Given the description of an element on the screen output the (x, y) to click on. 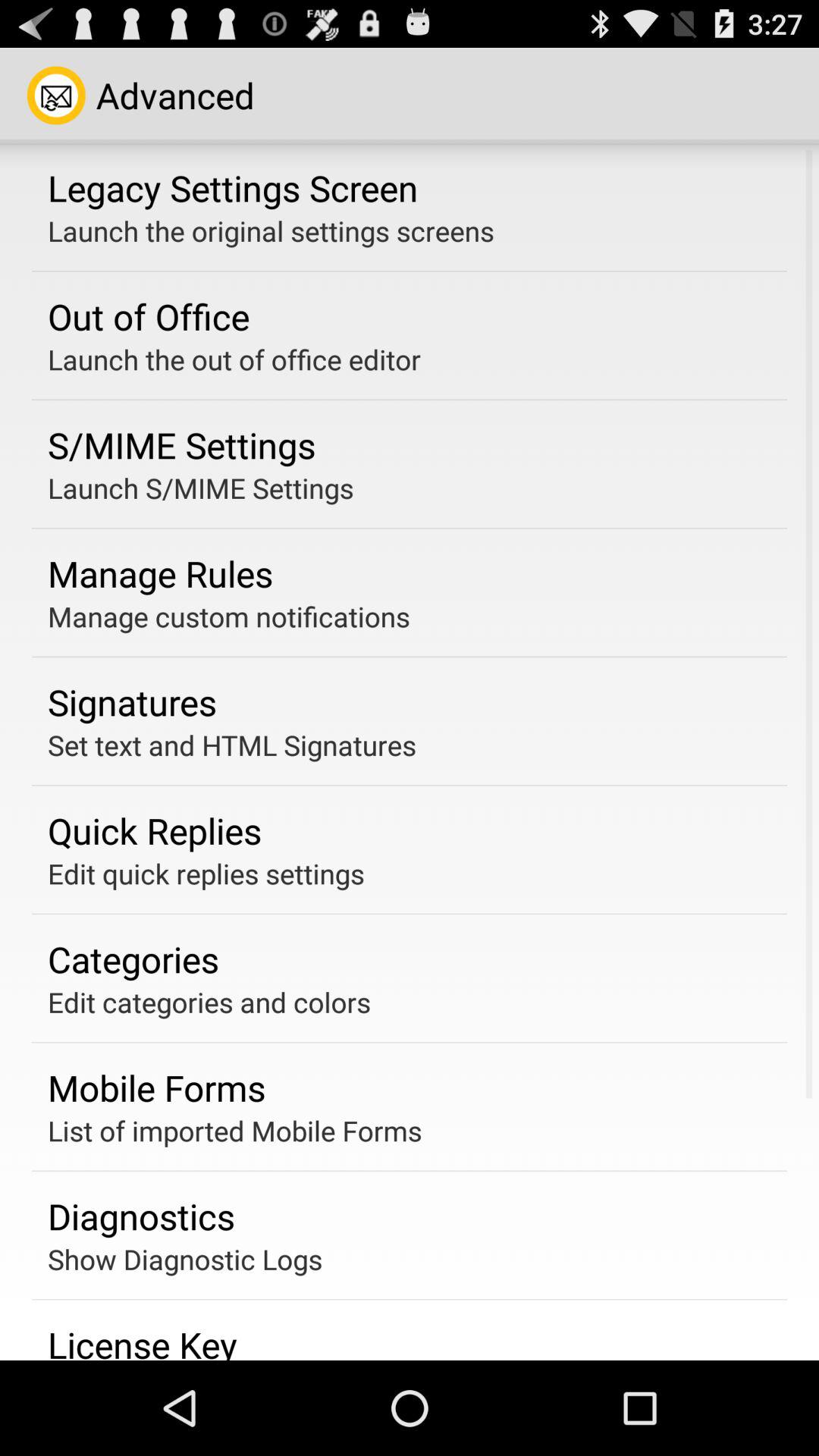
flip until the edit categories and icon (208, 1001)
